Given the description of an element on the screen output the (x, y) to click on. 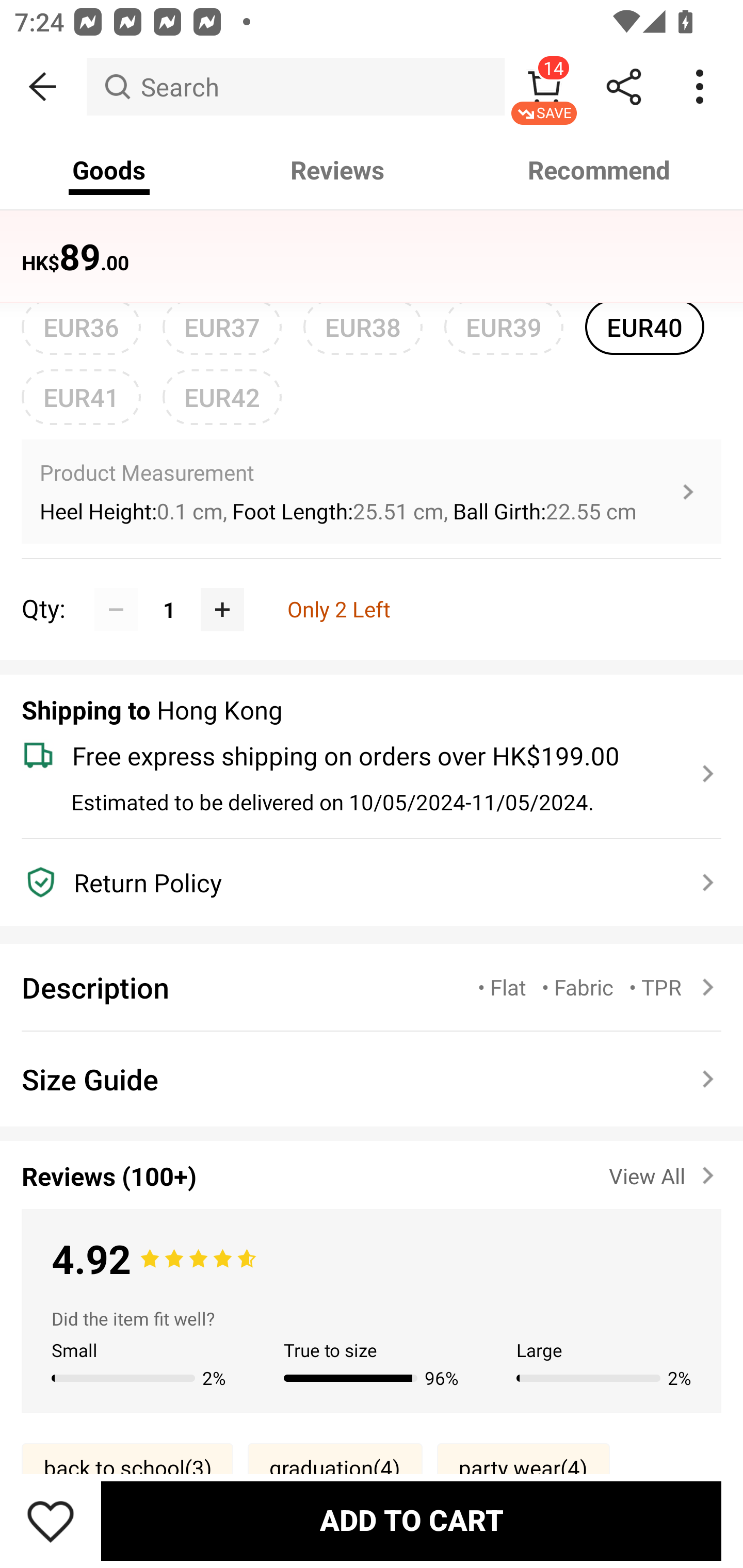
BACK (43, 86)
14 SAVE (543, 87)
Search (295, 87)
Goods (109, 170)
Reviews (337, 170)
Recommend (599, 170)
Size Type Check My Size (371, 256)
EUR36 EUR38 (81, 326)
EUR37 EUR39 (221, 326)
EUR38 EUR40 (362, 326)
EUR39 EUR41 (503, 326)
EUR40 EUR42selected option (644, 326)
EUR41 (81, 397)
EUR42 (221, 397)
Qty: 1 Only 2 Left (371, 587)
Return Policy (359, 882)
Size Guide (371, 1078)
View All (664, 1172)
back to school(3) (127, 1467)
graduation(4) (334, 1467)
party wear(4) (523, 1467)
ADD TO CART (411, 1520)
Save (50, 1520)
